Given the description of an element on the screen output the (x, y) to click on. 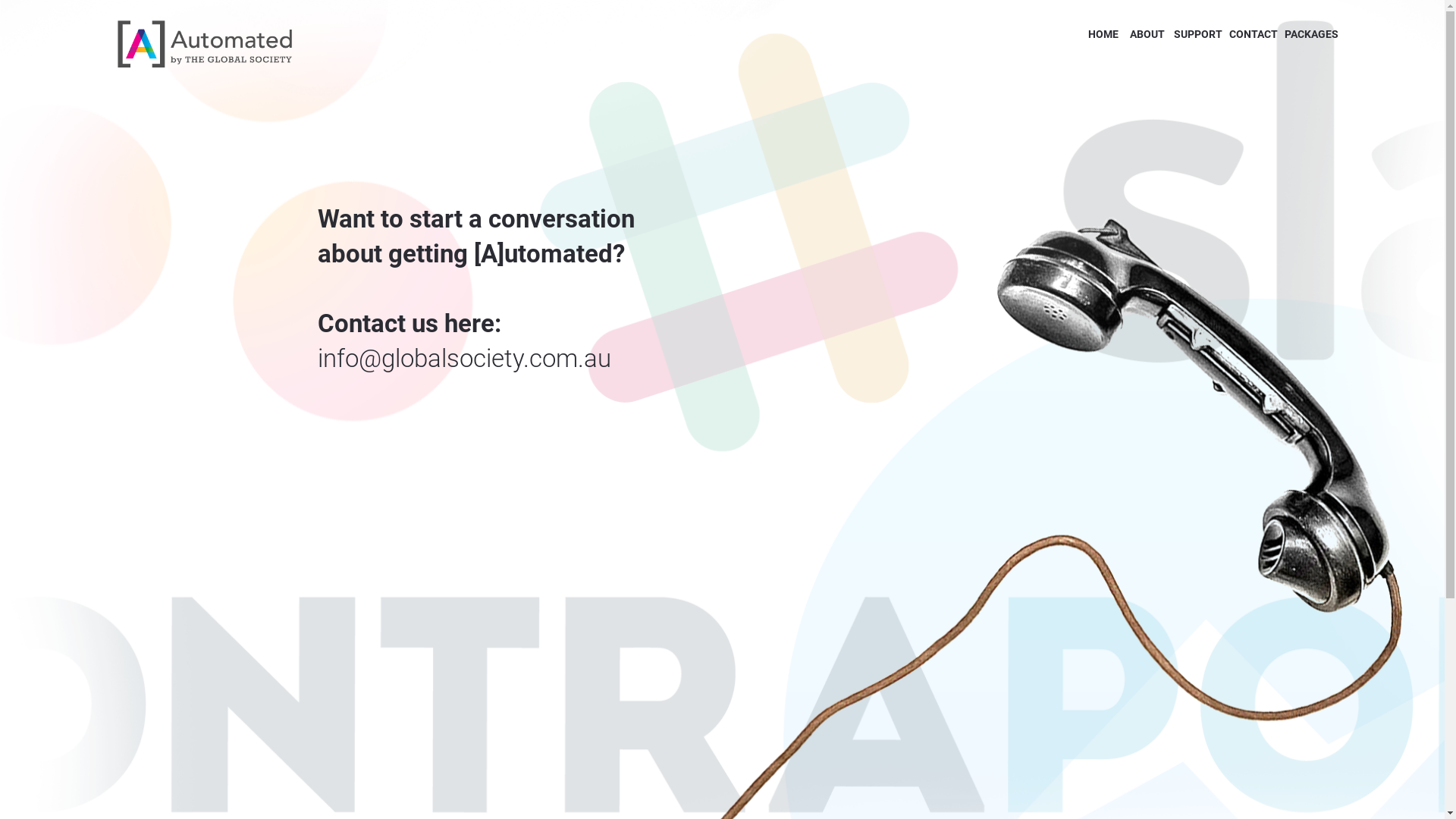
 CONTACT Element type: text (1251, 34)
  Element type: text (1119, 34)
  Element type: text (1086, 34)
PACKAGES Element type: text (1311, 34)
Link: globalsociety.net.au/new-home-test Element type: hover (1119, 34)
SUPPORT Element type: text (1197, 34)
ABOUT Element type: text (1146, 34)
HOME Element type: text (1103, 34)
Link: globalsociety.net.au/new-home-test Element type: hover (1086, 34)
